Given the description of an element on the screen output the (x, y) to click on. 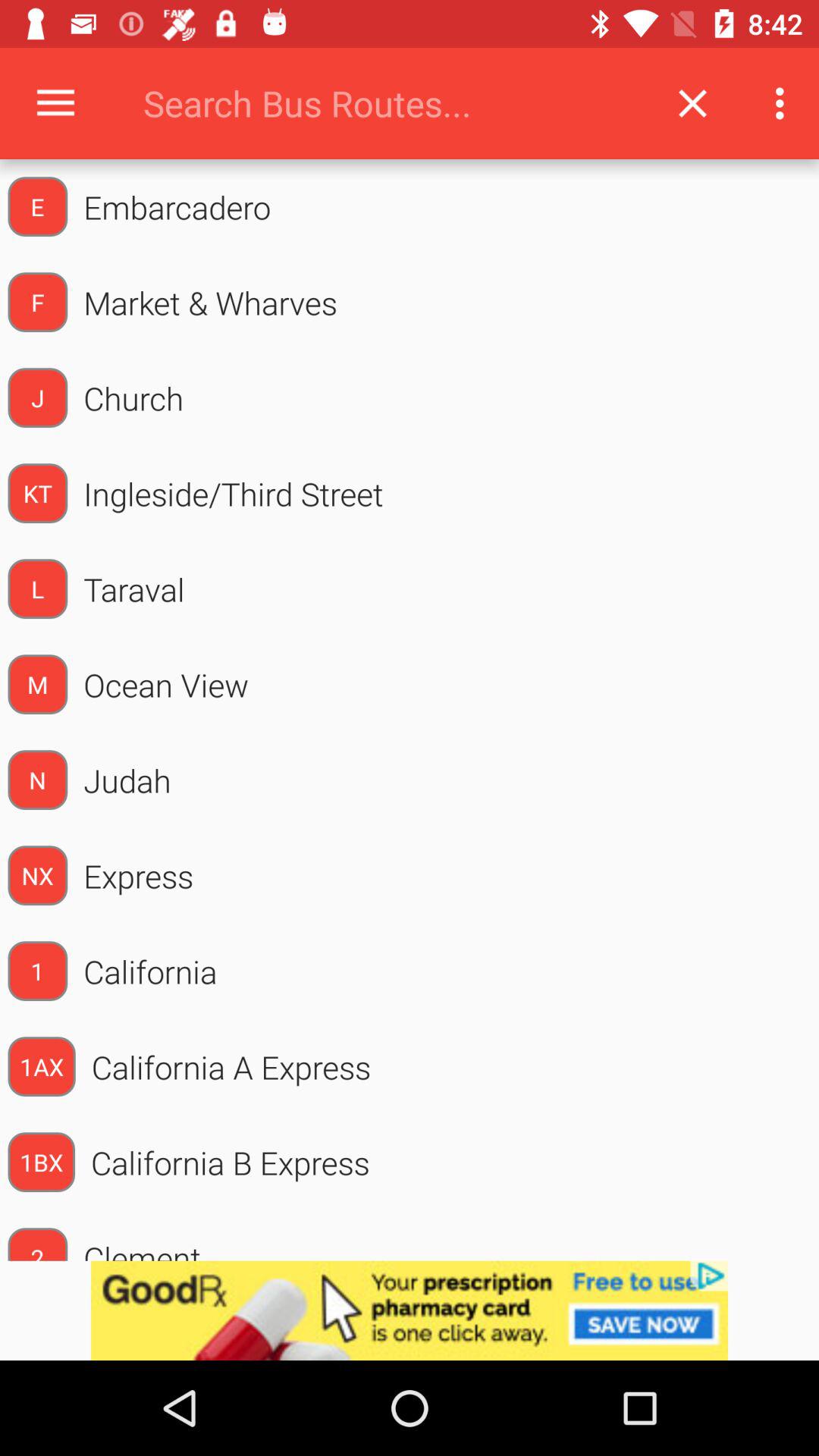
advertisement advertisement (409, 1310)
